Given the description of an element on the screen output the (x, y) to click on. 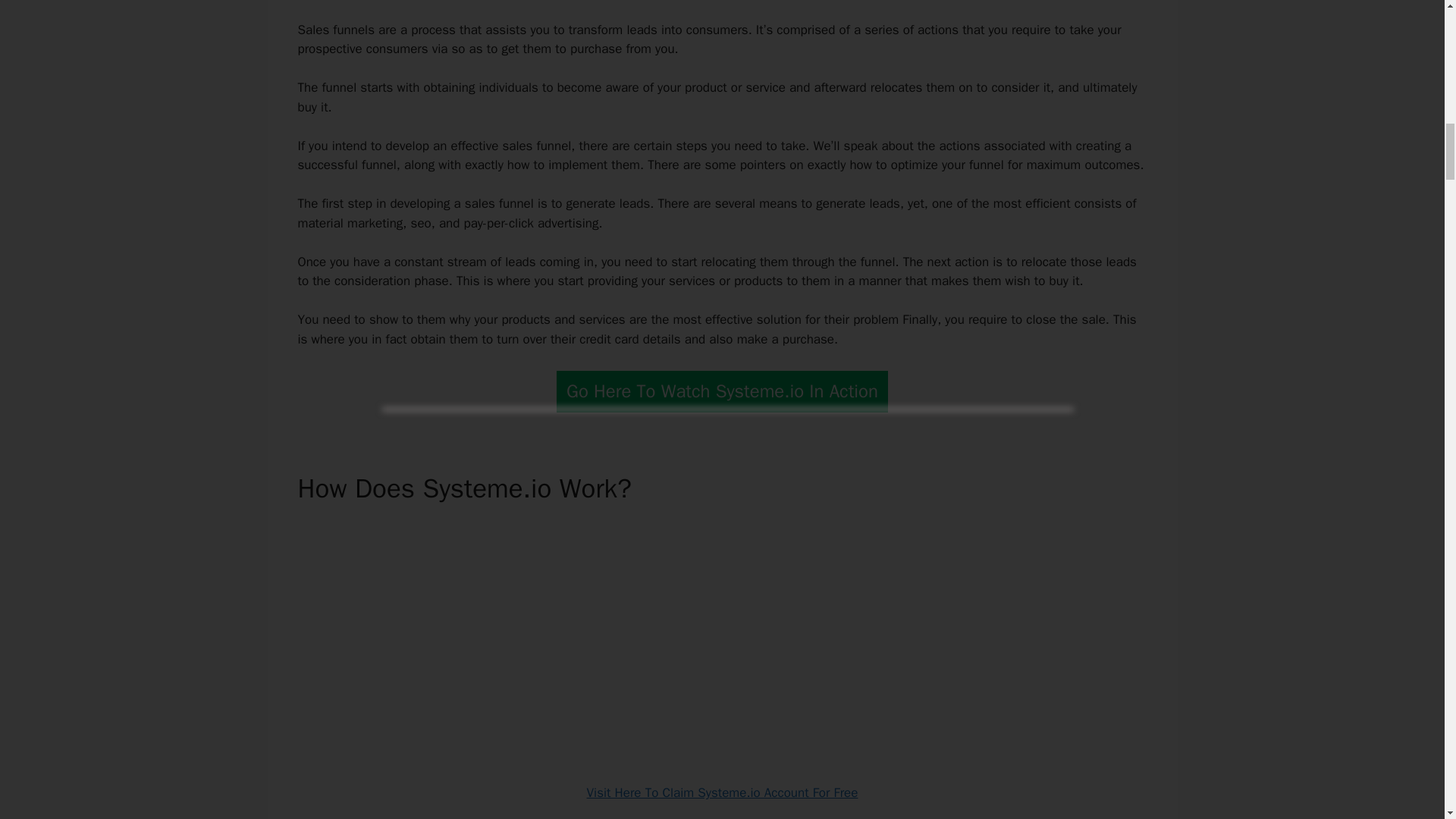
Visit Here To Claim Systeme.io Account For Free (722, 792)
Go Here To Watch Systeme.io In Action (722, 391)
YouTube video player (721, 638)
